Given the description of an element on the screen output the (x, y) to click on. 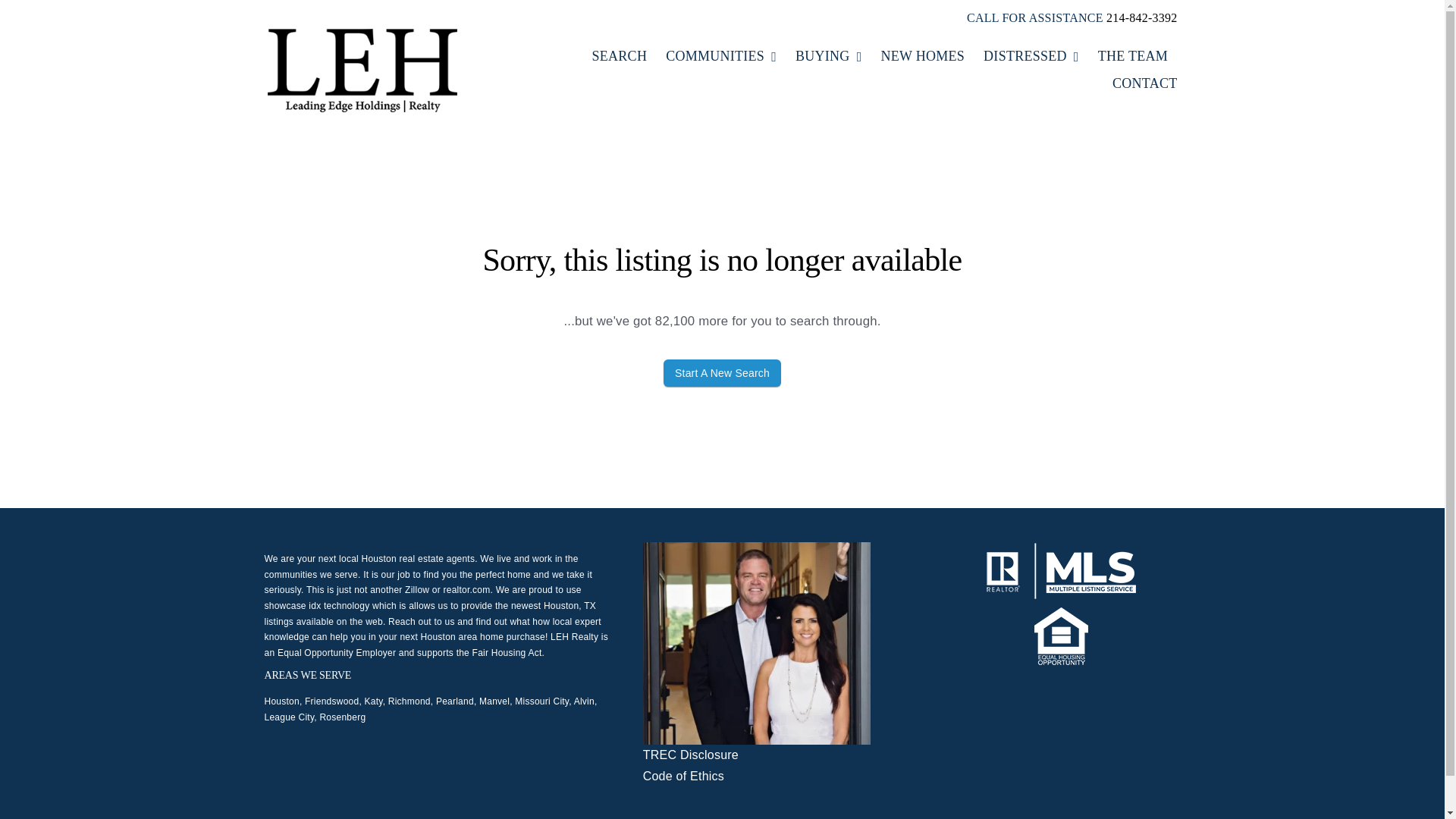
newest Houston, TX listings (429, 613)
Manvel (494, 701)
NEW HOMES (921, 56)
THE TEAM (1132, 56)
CONTACT US (1144, 83)
Friendswood (331, 701)
Richmond (409, 701)
THE TEAM (1132, 56)
COMMUNITIES (720, 56)
BUYING (827, 56)
